Given the description of an element on the screen output the (x, y) to click on. 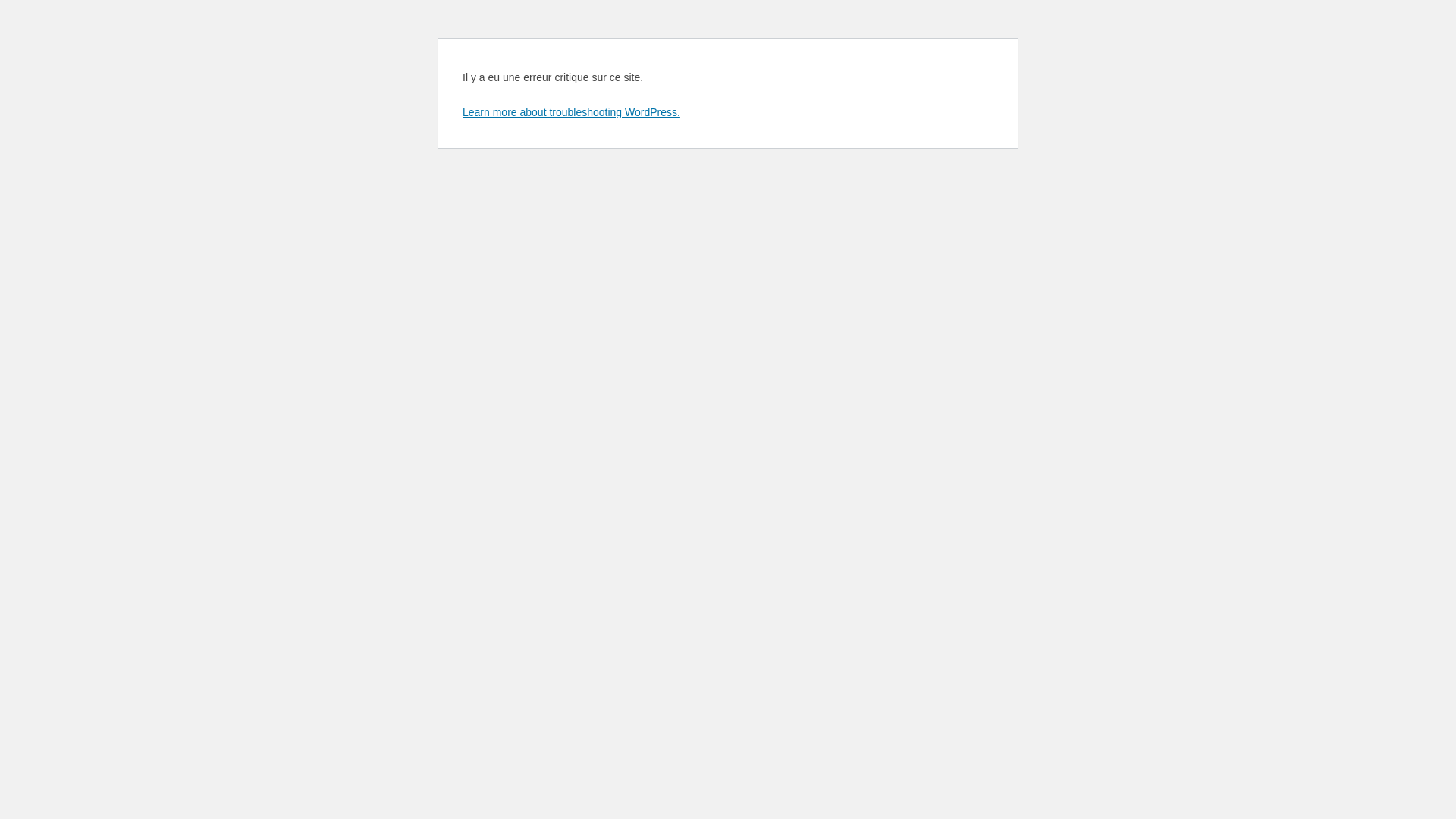
Learn more about troubleshooting WordPress. Element type: text (571, 112)
